Given the description of an element on the screen output the (x, y) to click on. 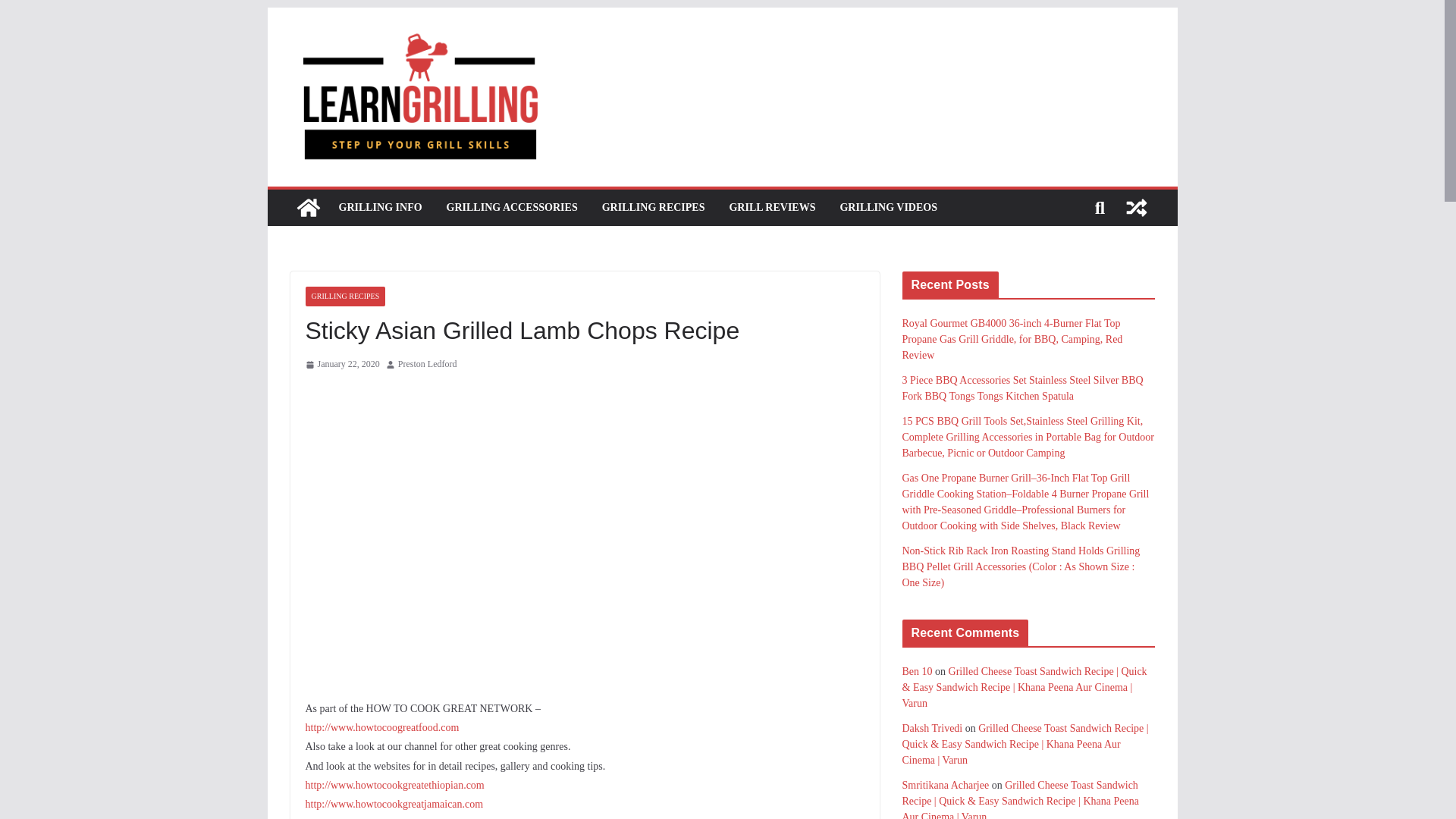
GRILLING ACCESSORIES (512, 207)
GRILLING VIDEOS (888, 207)
GRILLING INFO (379, 207)
GRILLING RECIPES (653, 207)
View a random post (1136, 207)
Preston Ledford (427, 364)
GRILLING RECIPES (344, 296)
4:19 pm (341, 364)
Preston Ledford (427, 364)
January 22, 2020 (341, 364)
LearnGrilling.com (307, 207)
GRILL REVIEWS (772, 207)
